Given the description of an element on the screen output the (x, y) to click on. 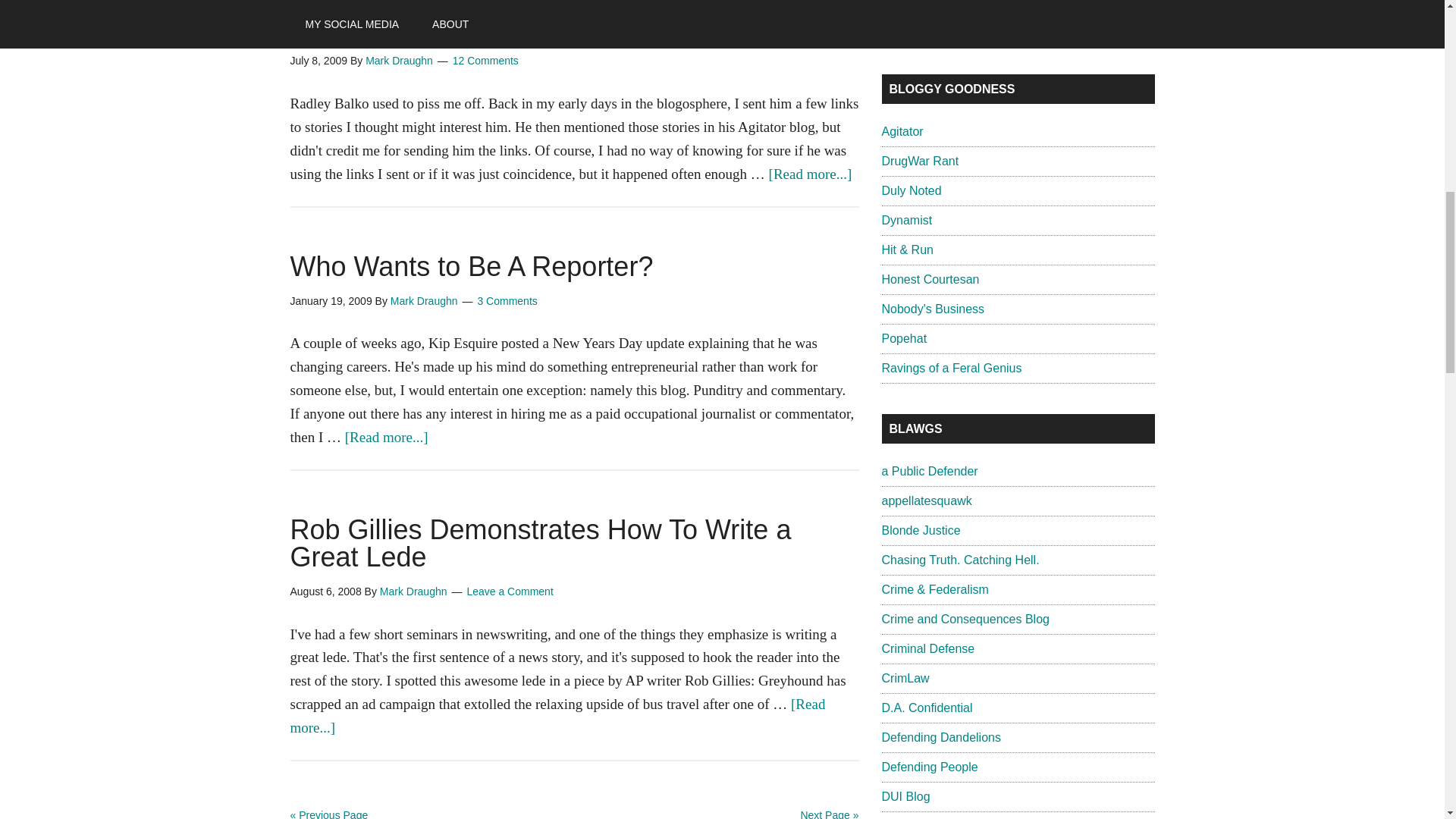
Who Wants to Be A Reporter? (470, 265)
3 Comments (507, 300)
12 Comments (485, 60)
A hilarious blog about appellate law. No, really. (925, 500)
Virgina Postrel, author, columnist, and famous kidney doner. (905, 219)
On the Ethics of Sourcing For Bloggers and Journalists (552, 20)
Leave a Comment (509, 591)
Notes from a retired call girl. (929, 278)
A group complaint about law, liberty, and leisure. (903, 338)
Mark Draughn (424, 300)
